Given the description of an element on the screen output the (x, y) to click on. 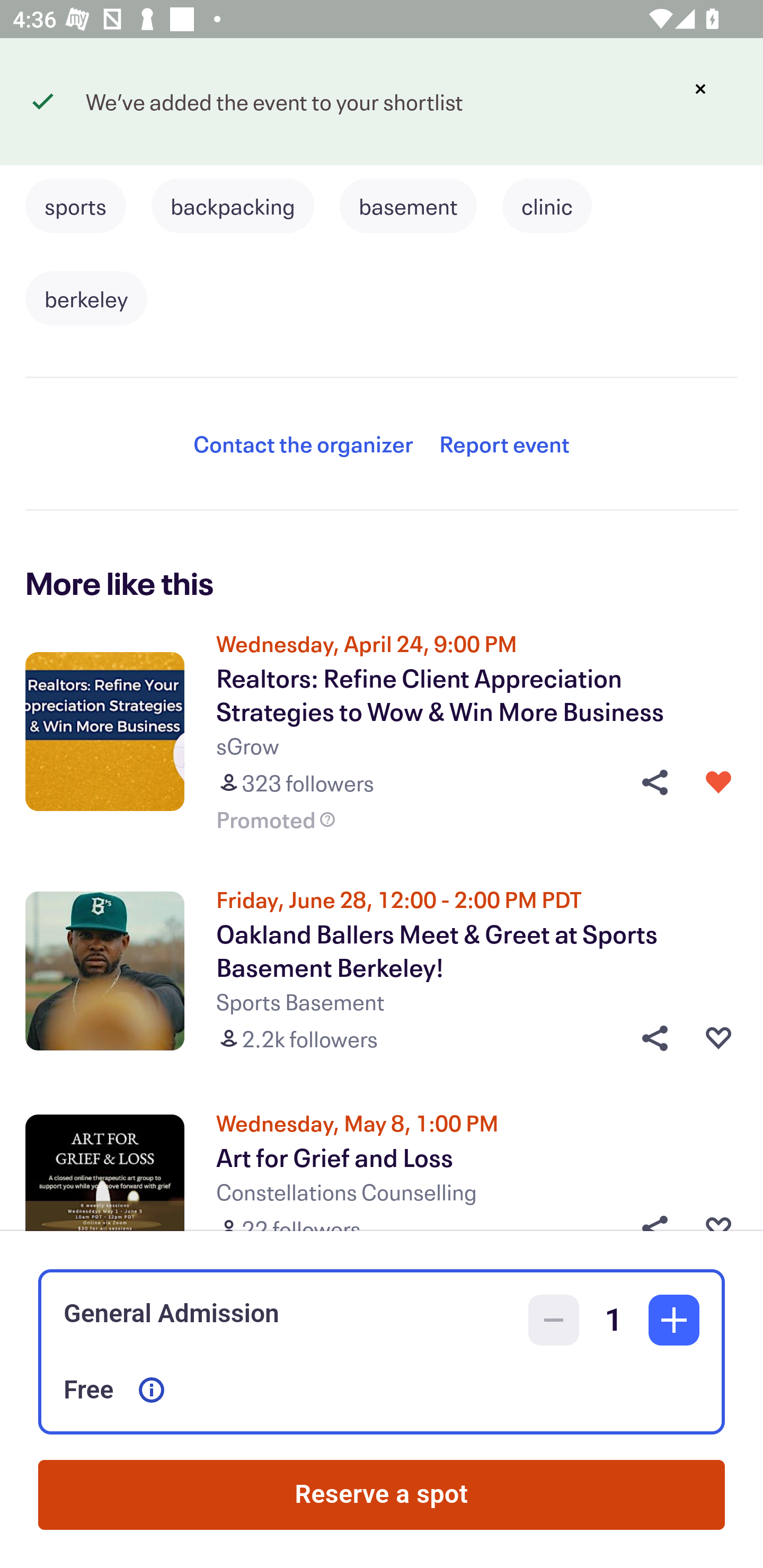
Dismiss notification (700, 89)
Back (57, 94)
sports (75, 205)
backpacking (232, 205)
basement (407, 205)
clinic (547, 205)
berkeley (86, 298)
Contact the organizer (303, 443)
Report event (504, 443)
Share (648, 782)
Like (718, 782)
Share (648, 1037)
Like (718, 1037)
Decrease (553, 1320)
Increase (673, 1320)
Show more information (151, 1389)
Reserve a spot (381, 1494)
